Given the description of an element on the screen output the (x, y) to click on. 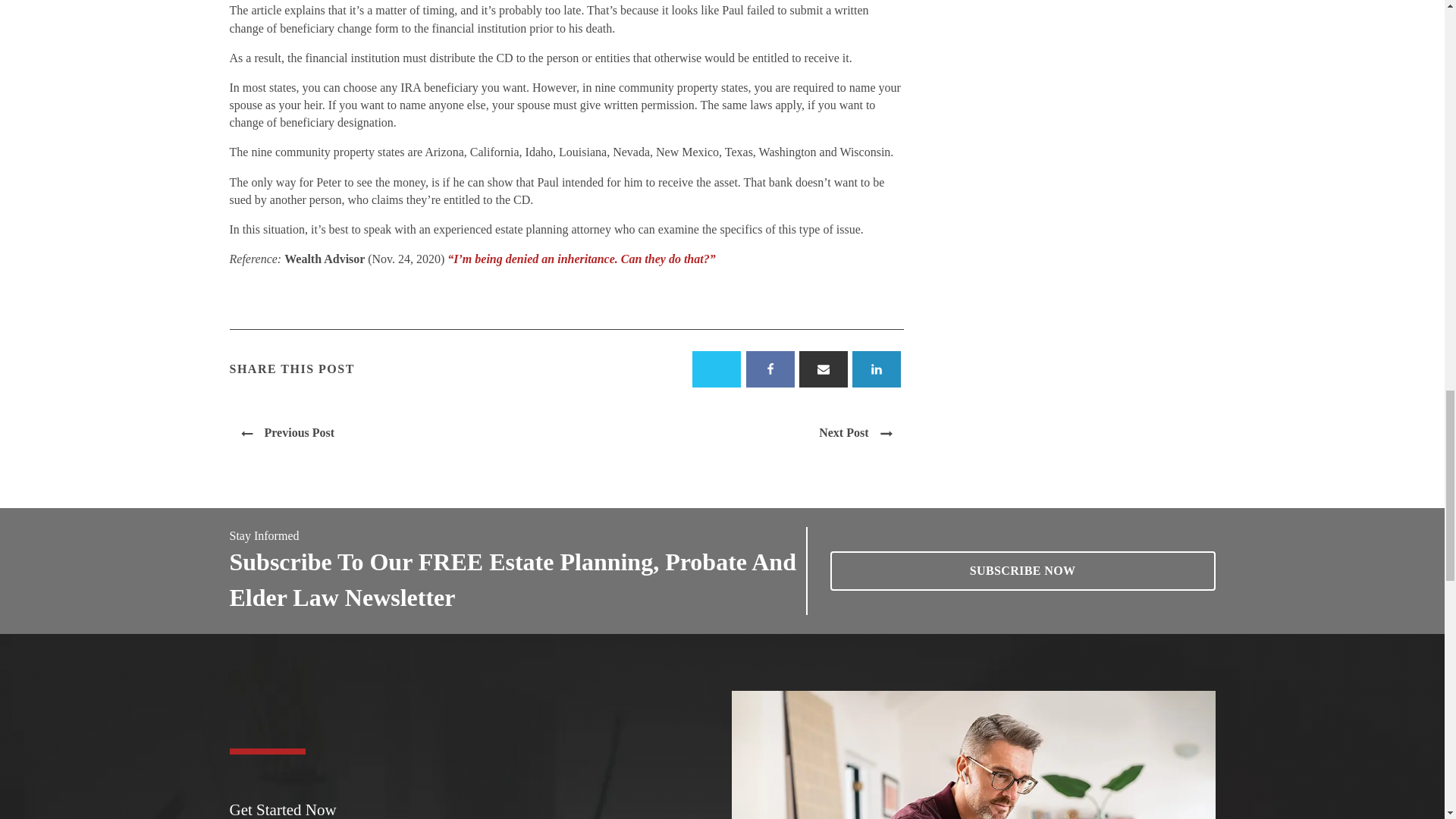
Book an Initial Call (1022, 570)
Book A Call With Parker Law Firm (973, 755)
